Given the description of an element on the screen output the (x, y) to click on. 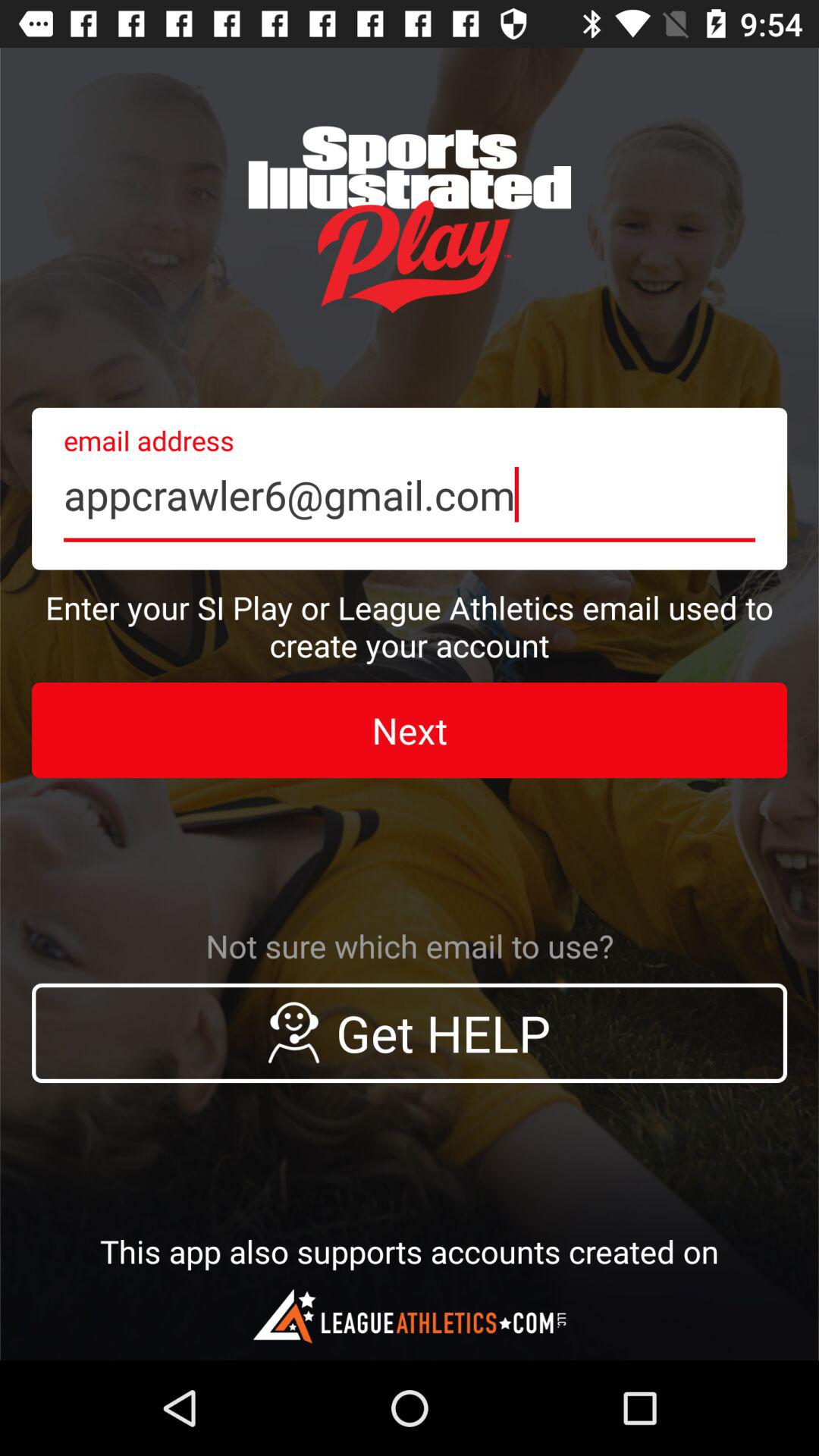
flip to next (409, 730)
